Given the description of an element on the screen output the (x, y) to click on. 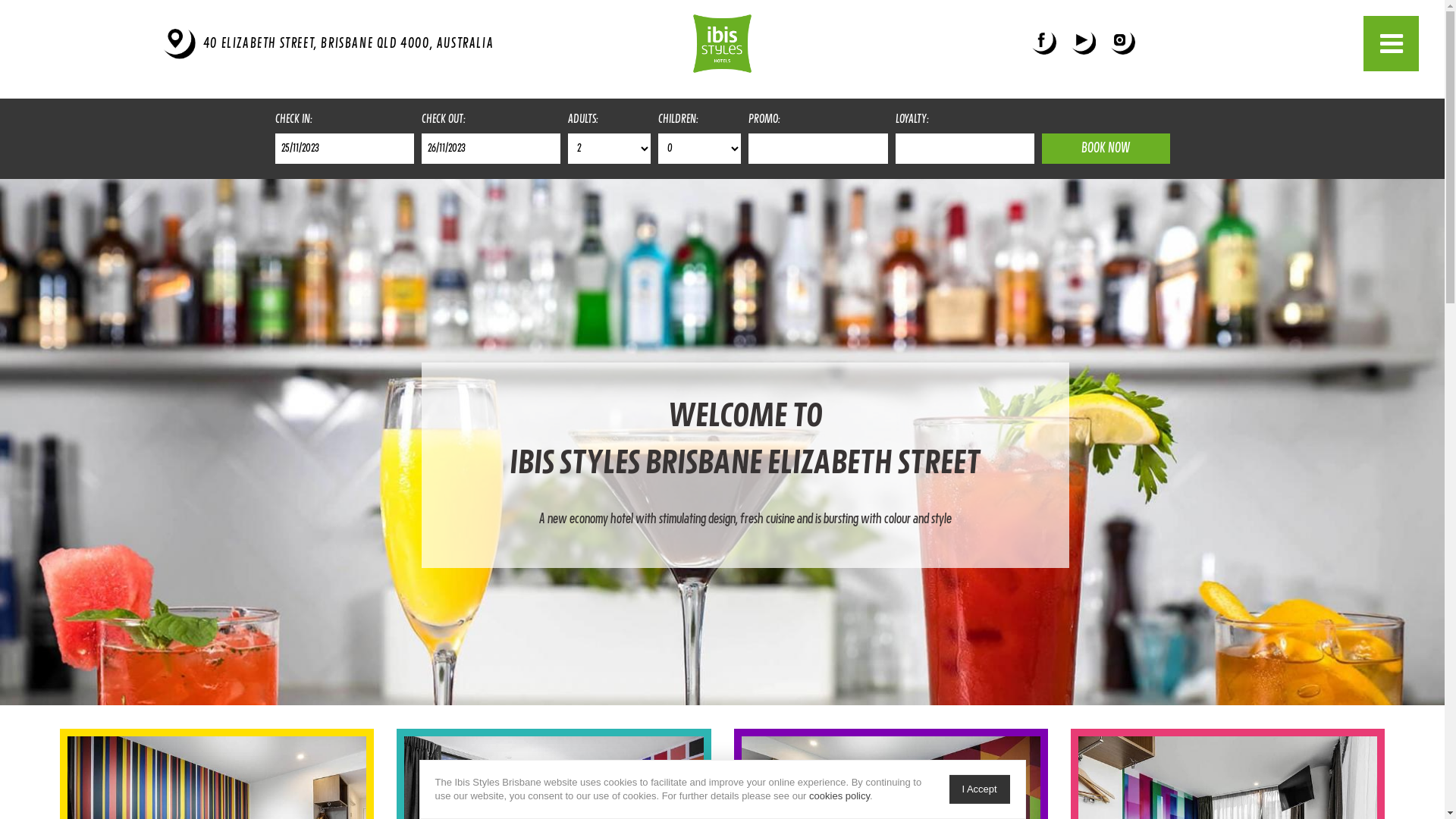
logo image Element type: hover (721, 43)
insta image Element type: hover (1122, 42)
yt image Element type: hover (1083, 42)
fb image Element type: hover (1044, 42)
I Accept Element type: text (979, 789)
Book Now Element type: text (1105, 148)
location image Element type: hover (179, 43)
cookies policy Element type: text (839, 795)
ibis styles logo Element type: hover (721, 43)
